Given the description of an element on the screen output the (x, y) to click on. 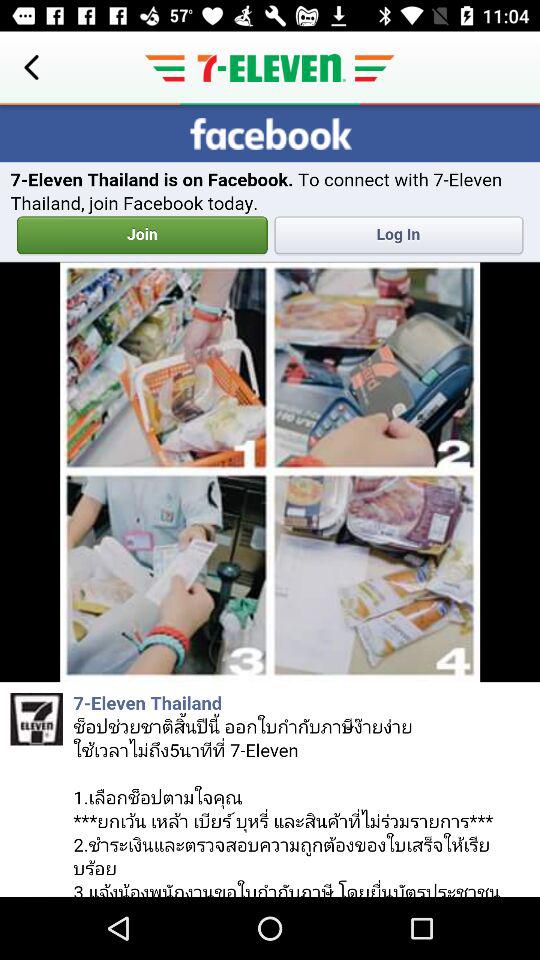
prior page arrow (31, 68)
